Given the description of an element on the screen output the (x, y) to click on. 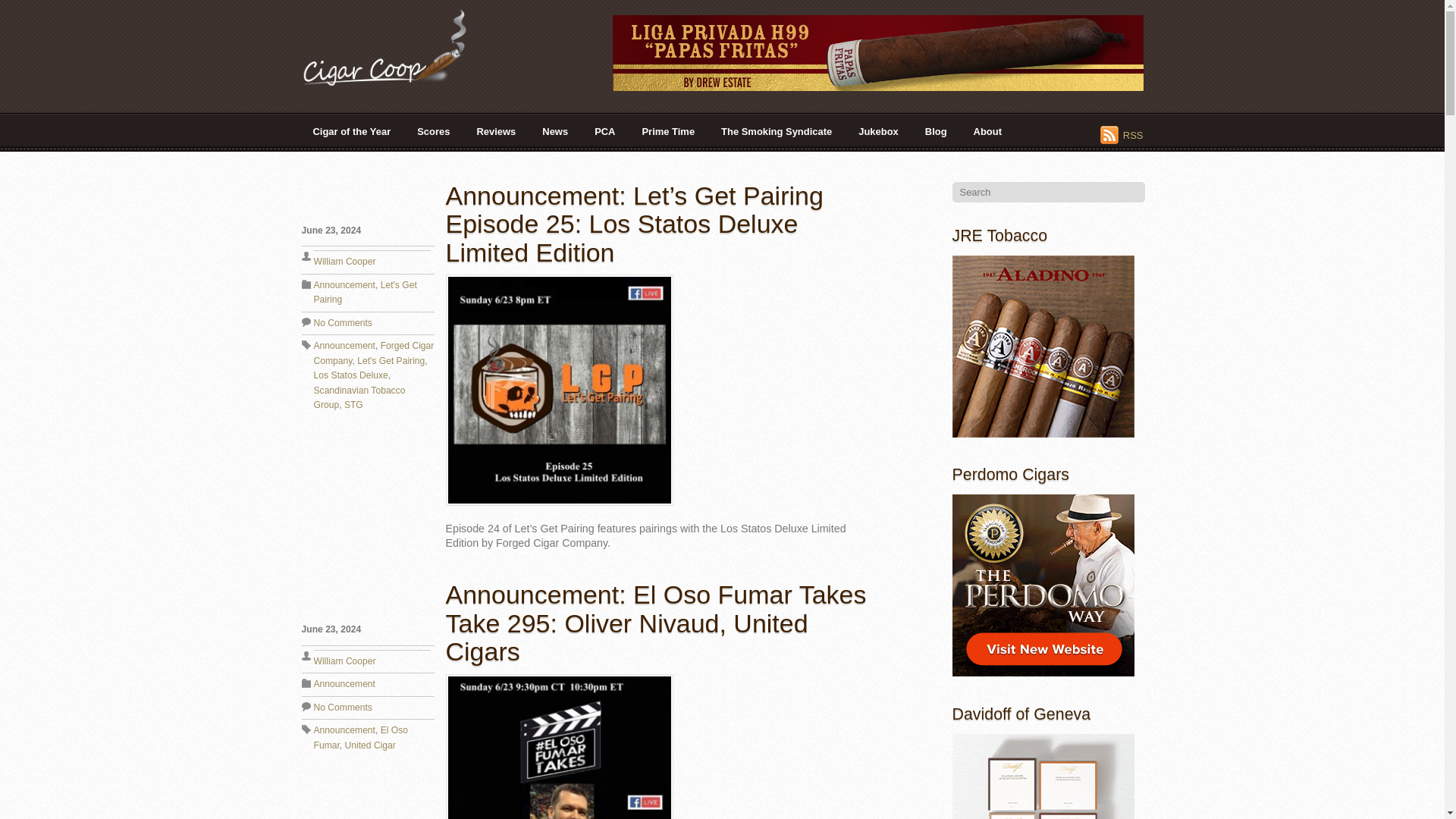
Cigar of the Year (352, 131)
Scores (433, 131)
Cigar Coop (396, 79)
Reviews (495, 131)
News (555, 131)
Cigar Coop (396, 46)
